Given the description of an element on the screen output the (x, y) to click on. 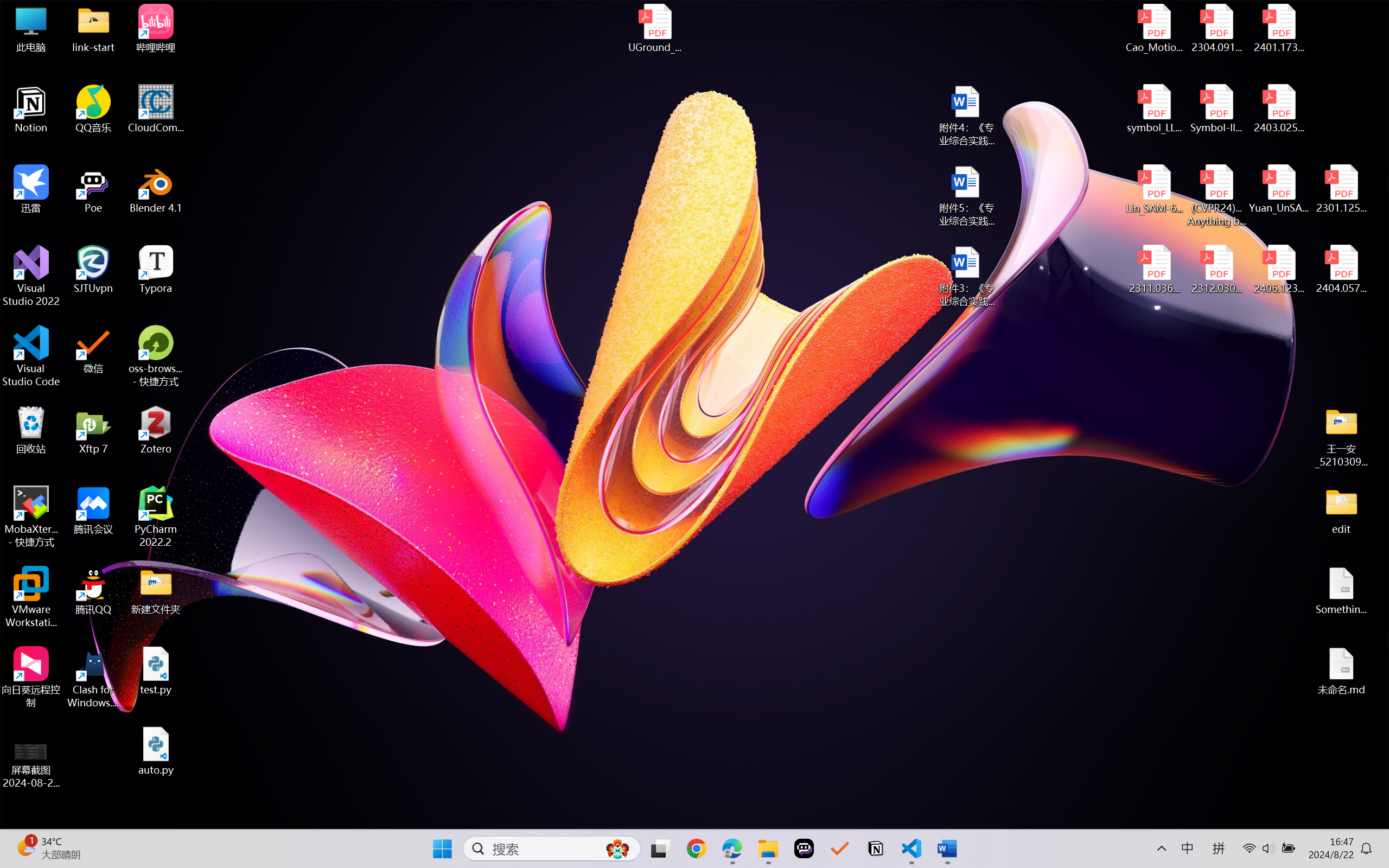
Symbol-llm-v2.pdf (1216, 109)
Google Chrome (696, 848)
auto.py (156, 751)
symbol_LLM.pdf (1154, 109)
2312.03032v2.pdf (1216, 269)
